Given the description of an element on the screen output the (x, y) to click on. 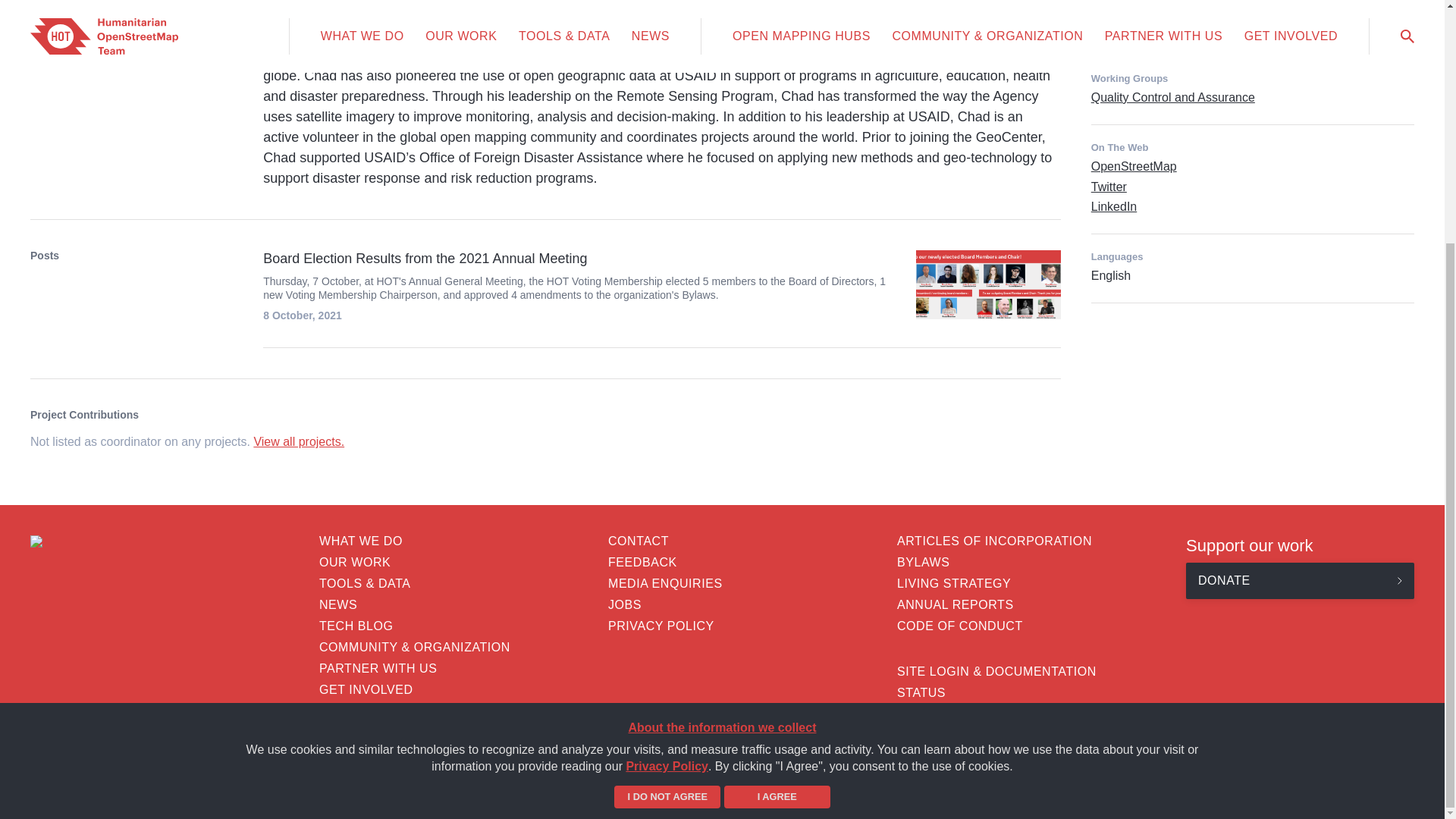
Quality Control and Assurance (1172, 97)
LinkedIn (1113, 205)
View all projects. (298, 440)
WHAT WE DO (432, 541)
OUR WORK (432, 562)
Twitter (1108, 186)
OpenStreetMap (1133, 165)
United States (1156, 14)
NEWS (432, 604)
Board Election Results from the 2021 Annual Meeting (579, 258)
